Given the description of an element on the screen output the (x, y) to click on. 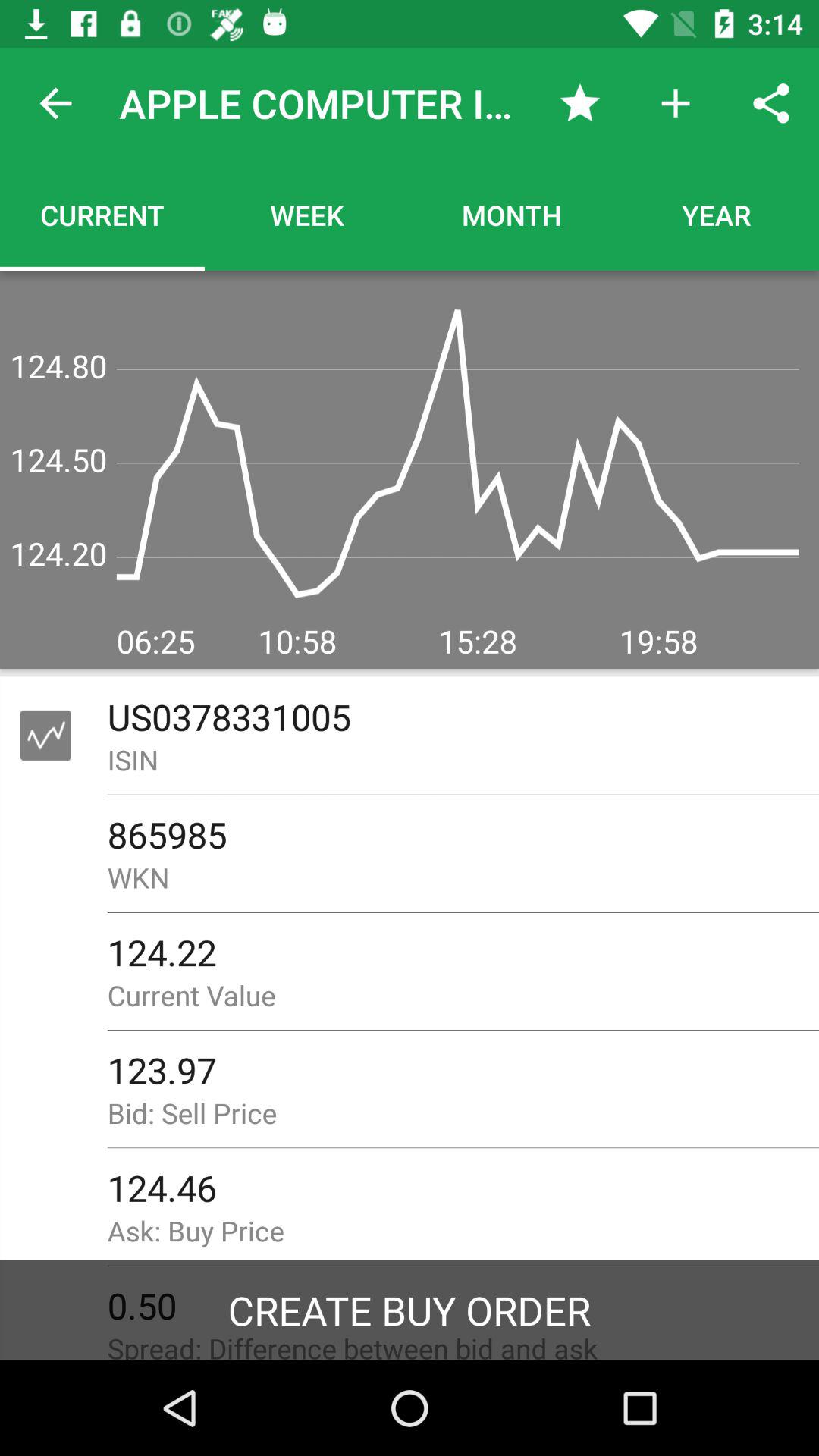
choose the icon to the left of the apple computer inc. (55, 103)
